Given the description of an element on the screen output the (x, y) to click on. 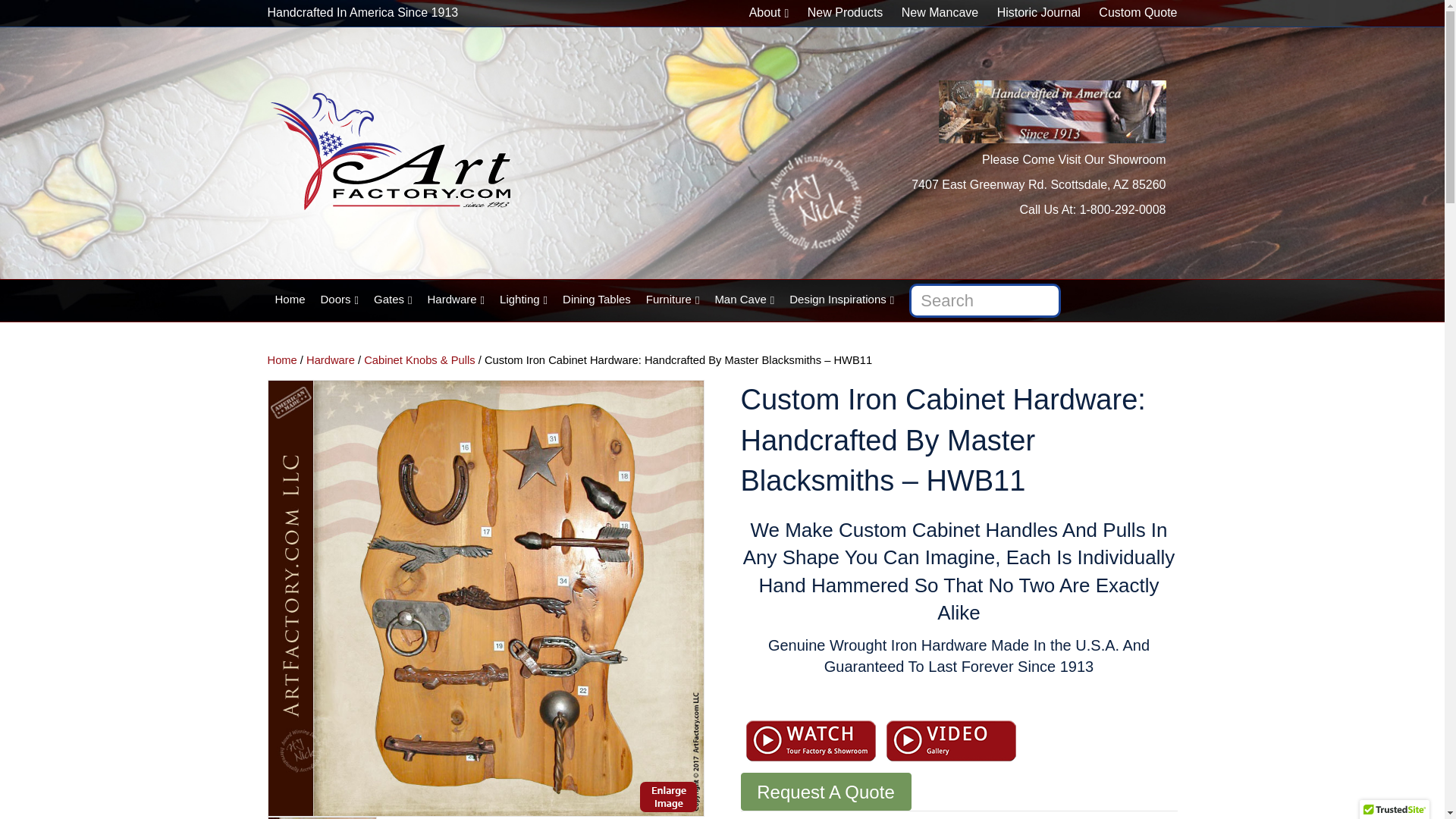
Type and press Enter to search. (721, 300)
